Given the description of an element on the screen output the (x, y) to click on. 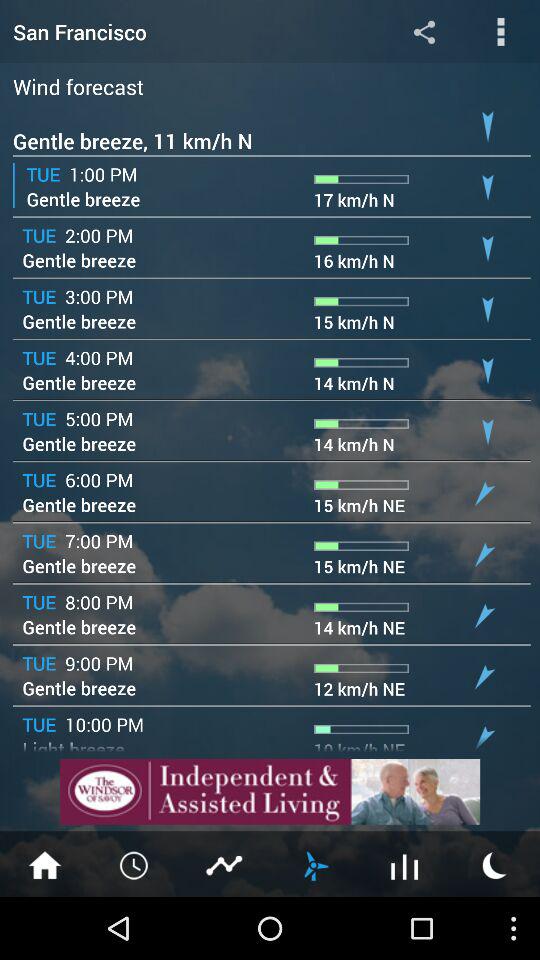
compare weather (225, 864)
